Given the description of an element on the screen output the (x, y) to click on. 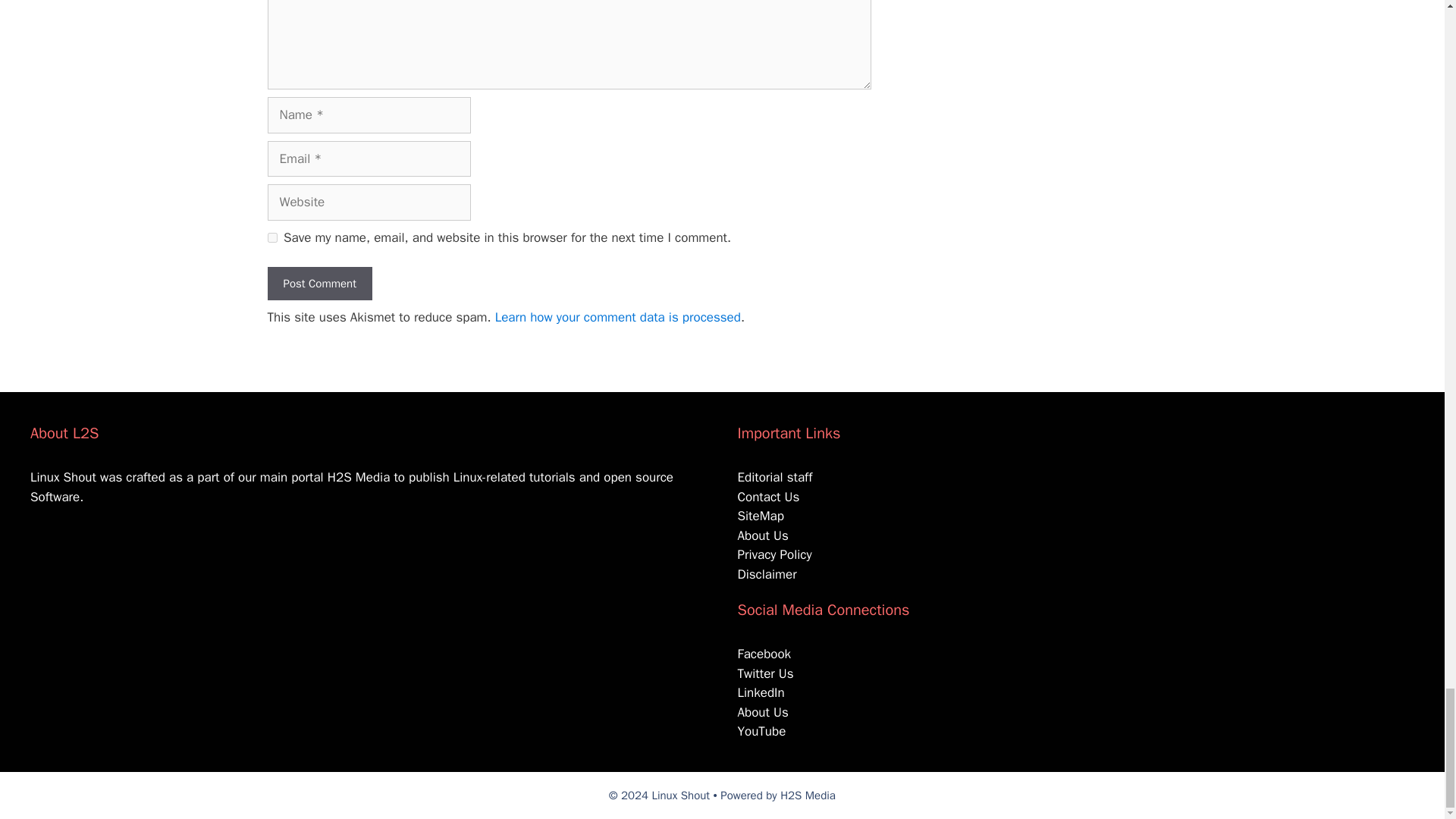
yes (271, 237)
Post Comment (318, 283)
